Given the description of an element on the screen output the (x, y) to click on. 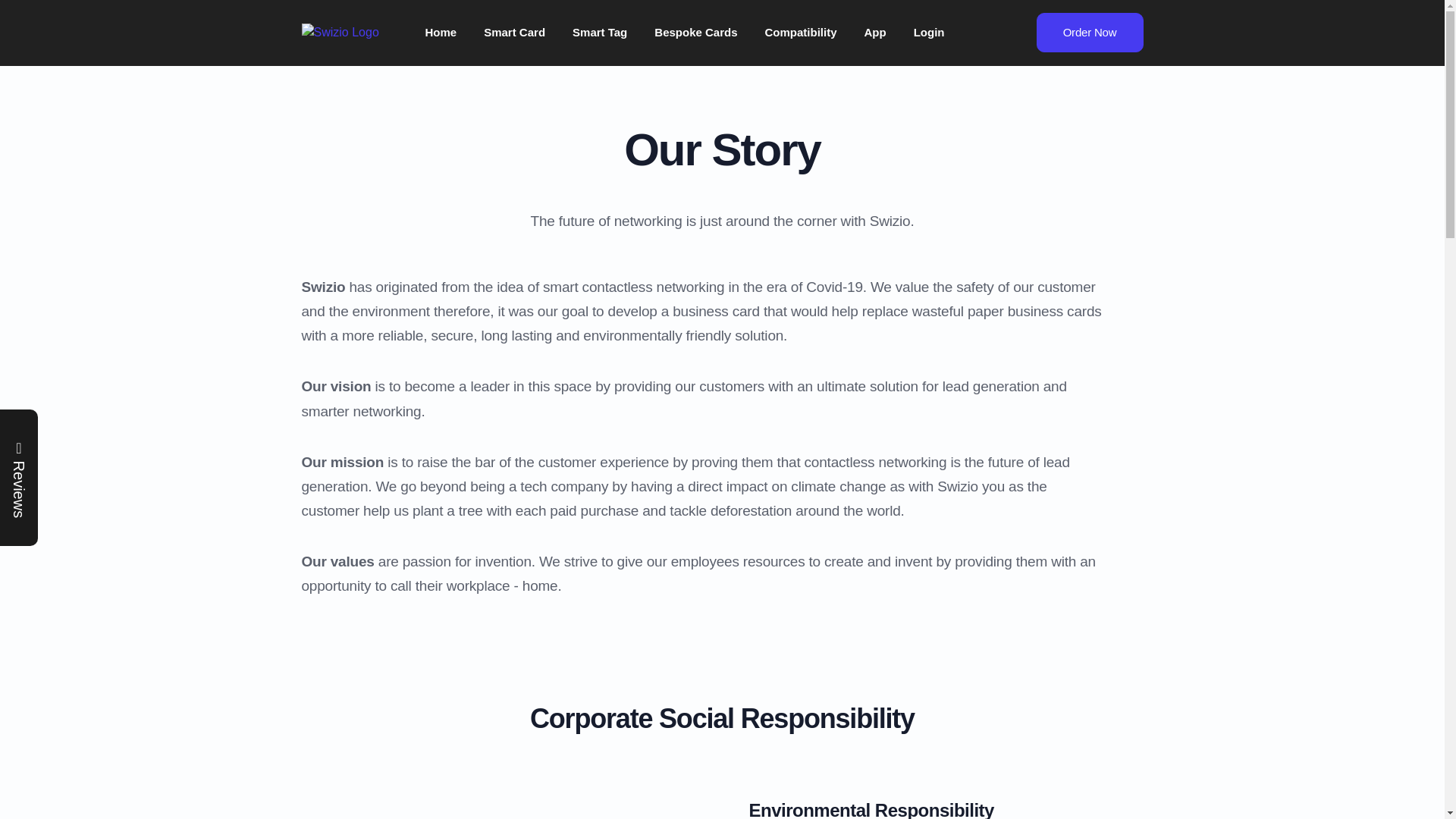
Login (928, 32)
Order Now (1088, 32)
Home (440, 32)
Smart Card (514, 32)
Smart Tag (599, 32)
App (874, 32)
Compatibility (800, 32)
Bespoke Cards (695, 32)
